Given the description of an element on the screen output the (x, y) to click on. 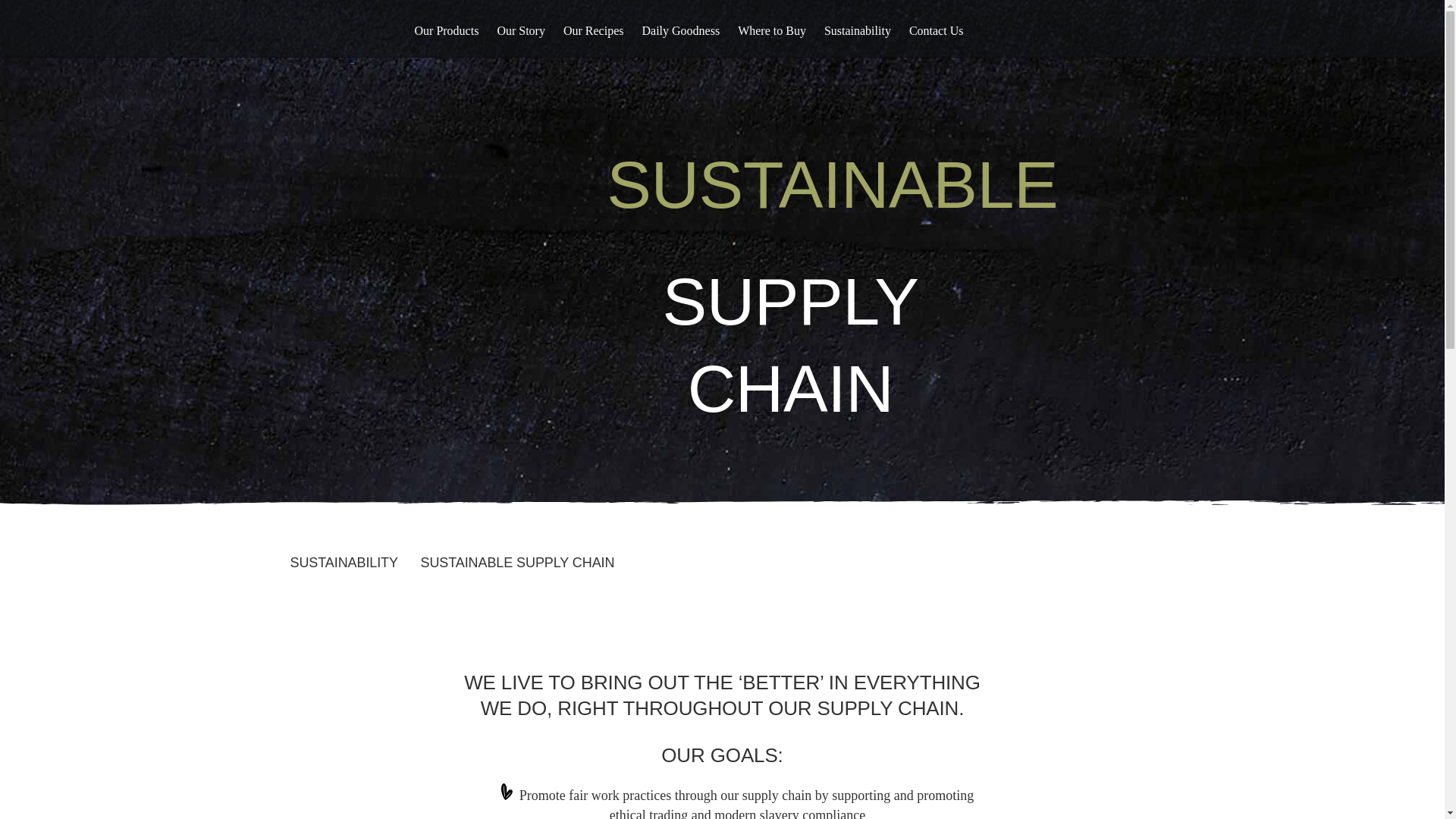
Our Products (446, 31)
Our Recipes (593, 31)
Our Story (520, 31)
Daily Goodness (680, 31)
Facebook (1086, 32)
Instagram (1105, 32)
